Given the description of an element on the screen output the (x, y) to click on. 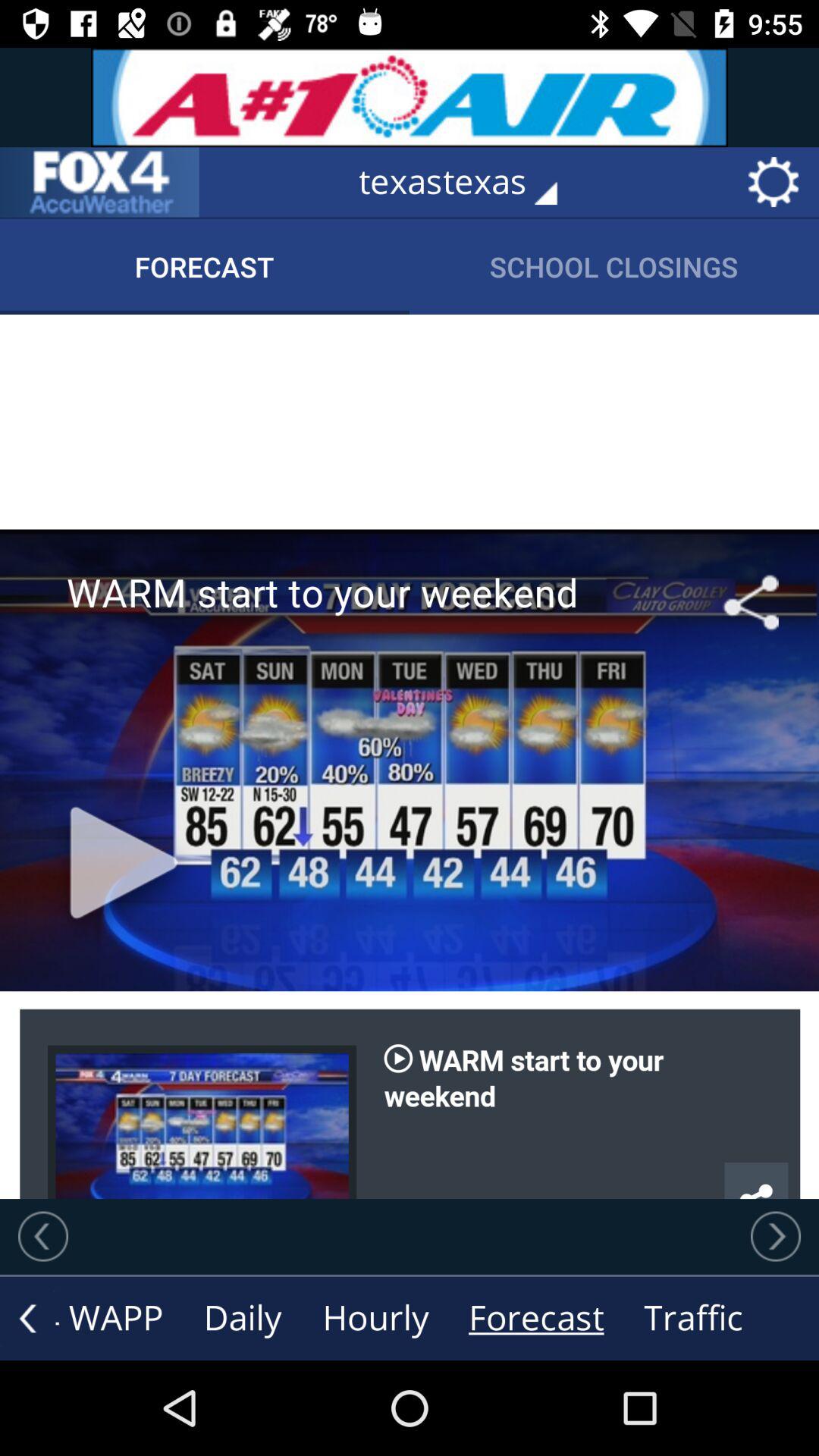
go back (43, 1236)
